Given the description of an element on the screen output the (x, y) to click on. 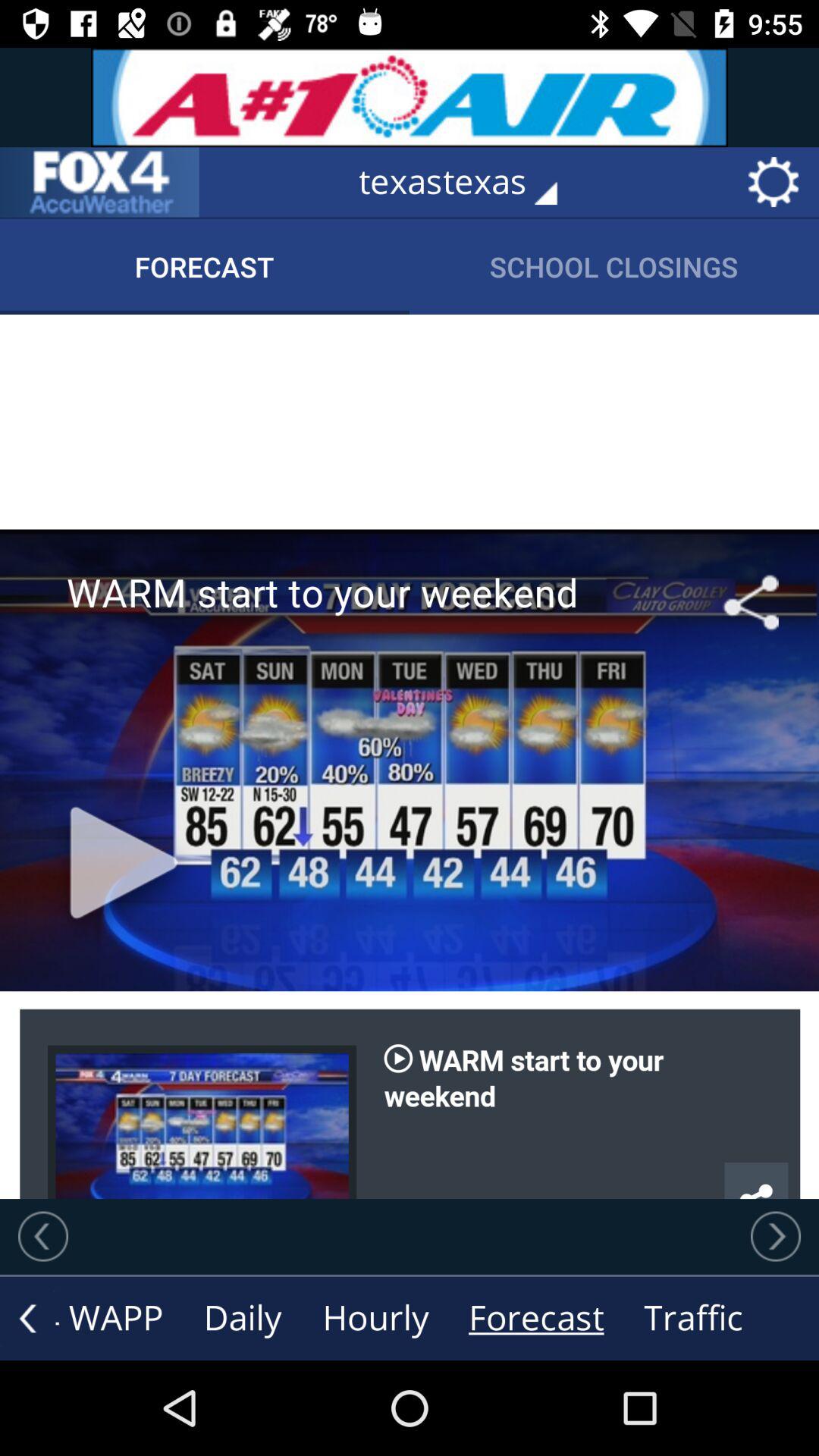
go back (43, 1236)
